Given the description of an element on the screen output the (x, y) to click on. 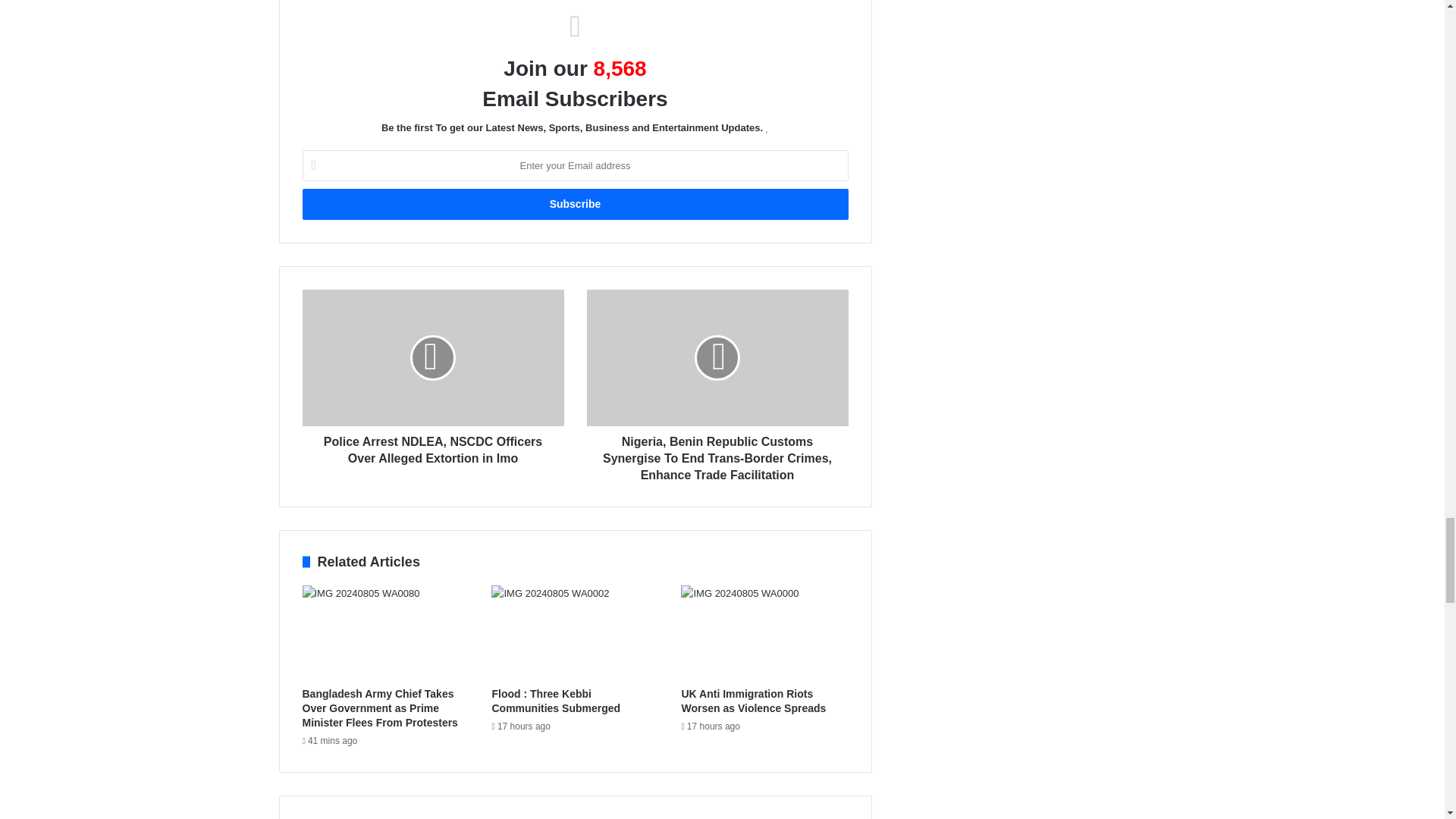
Subscribe (574, 204)
